Given the description of an element on the screen output the (x, y) to click on. 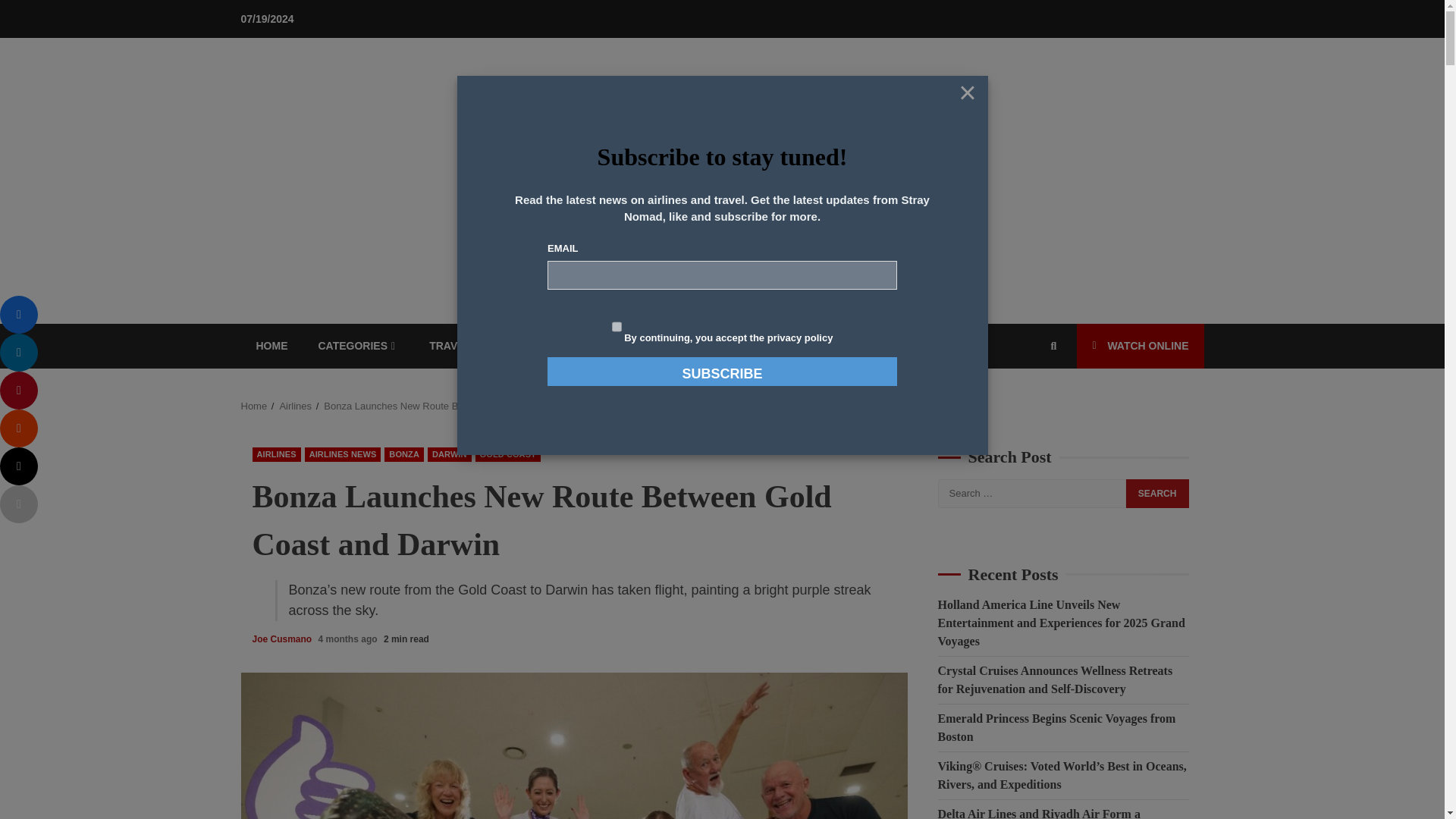
AIRLINES (275, 454)
DARWIN (449, 454)
Joe Cusmano (282, 638)
WATCH ONLINE (1140, 345)
TRAVEL TIPS (463, 345)
Search (1157, 493)
CATEGORIES (358, 345)
Airlines (295, 405)
Subscribe (721, 371)
Stray Nomad Travel News (385, 165)
BONZA (403, 454)
Search (1030, 402)
AIRLINES NEWS (342, 454)
ABOUT ME (702, 345)
Search (1157, 493)
